Given the description of an element on the screen output the (x, y) to click on. 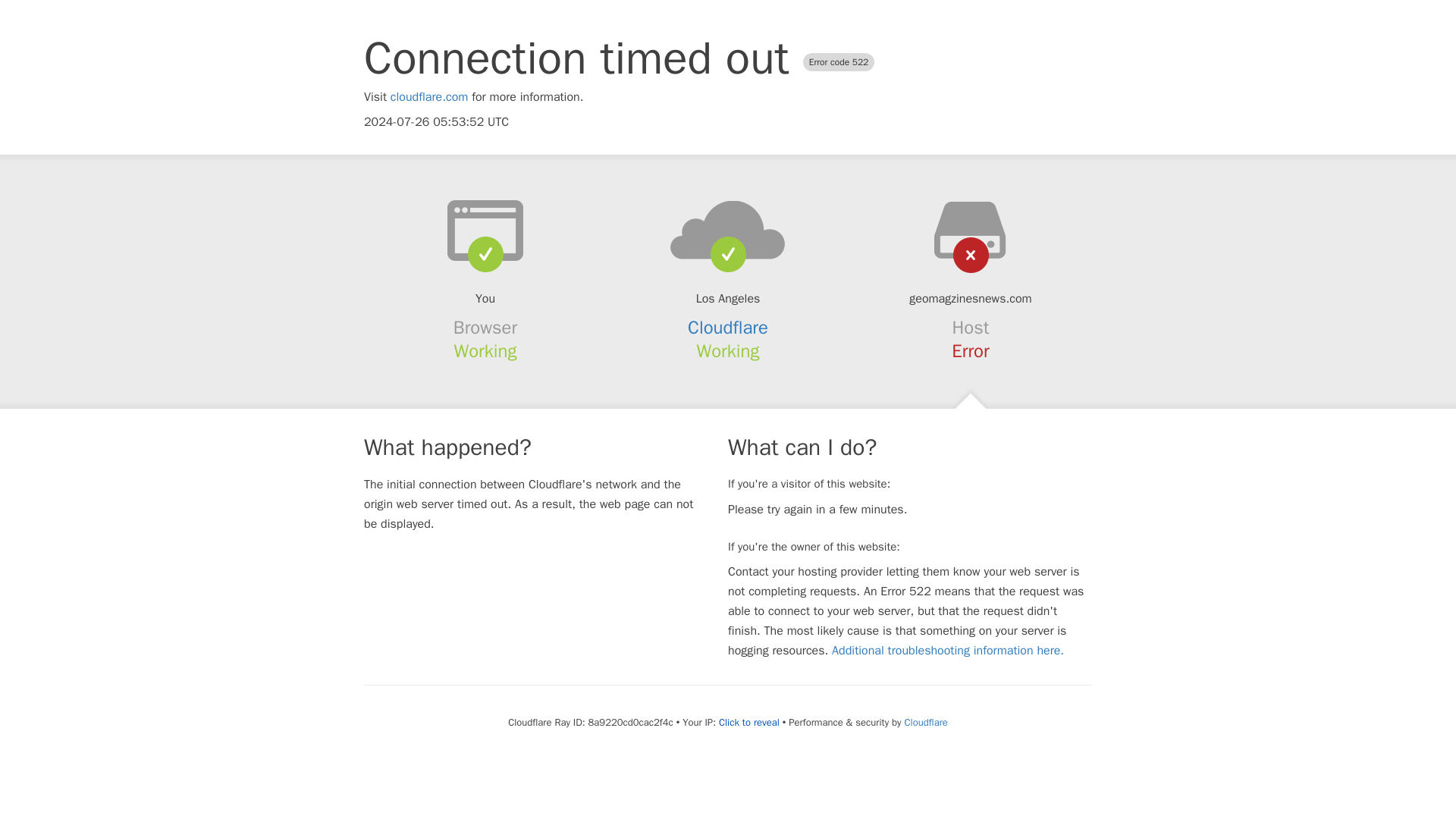
Cloudflare (925, 721)
Additional troubleshooting information here. (947, 650)
Click to reveal (748, 722)
Cloudflare (727, 327)
cloudflare.com (429, 96)
